Given the description of an element on the screen output the (x, y) to click on. 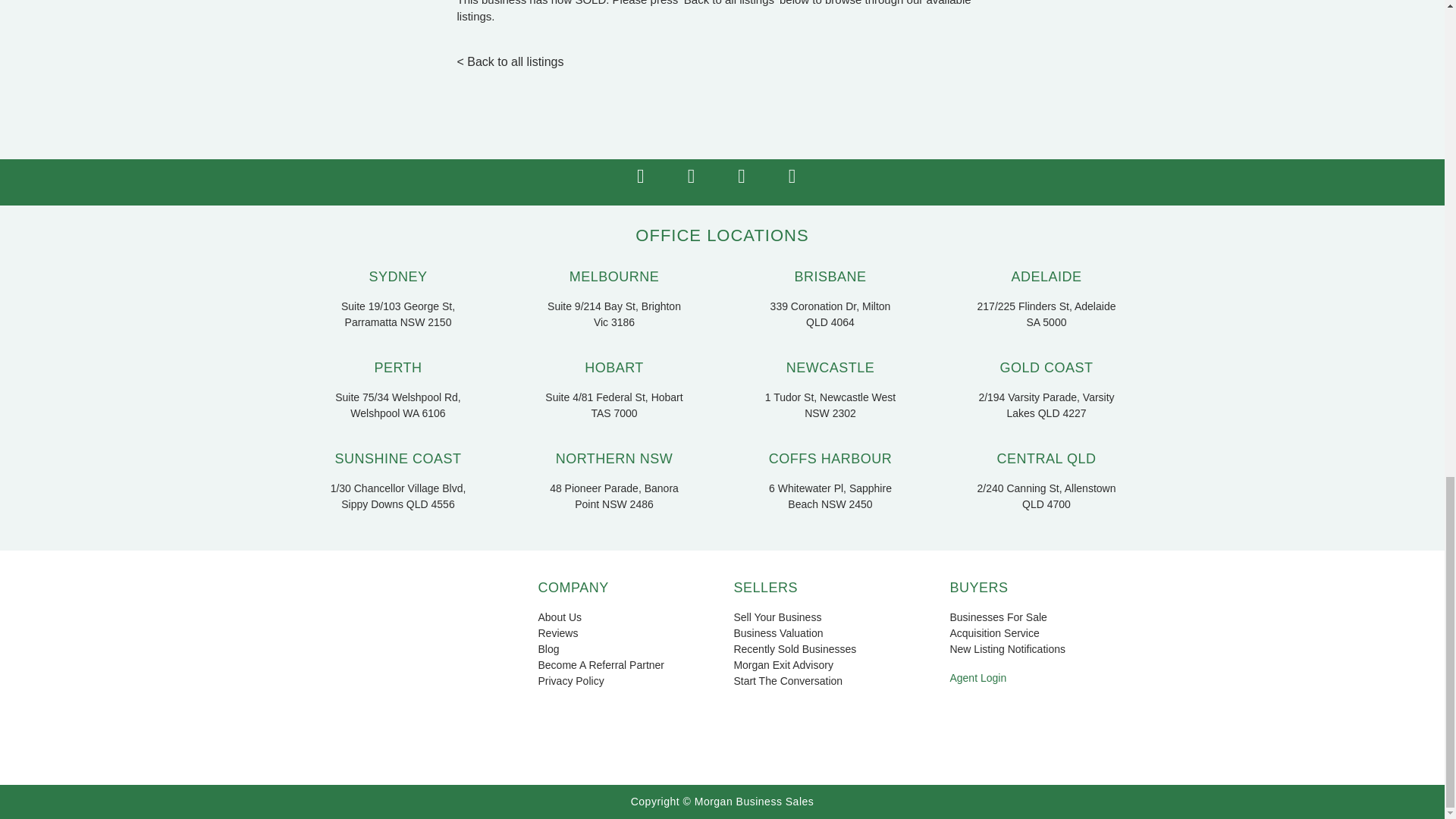
SYDNEY (397, 276)
48 Pioneer Parade, Banora Point NSW 2486 (614, 496)
1 Tudor St, Newcastle West NSW 2302 (829, 405)
ADELAIDE (1045, 276)
339 Coronation Dr, Milton QLD 4064 (829, 314)
HOBART (614, 367)
NEWCASTLE (830, 367)
MELBOURNE (614, 276)
6 Whitewater Pl, Sapphire Beach NSW 2450 (829, 496)
PERTH (398, 367)
